Given the description of an element on the screen output the (x, y) to click on. 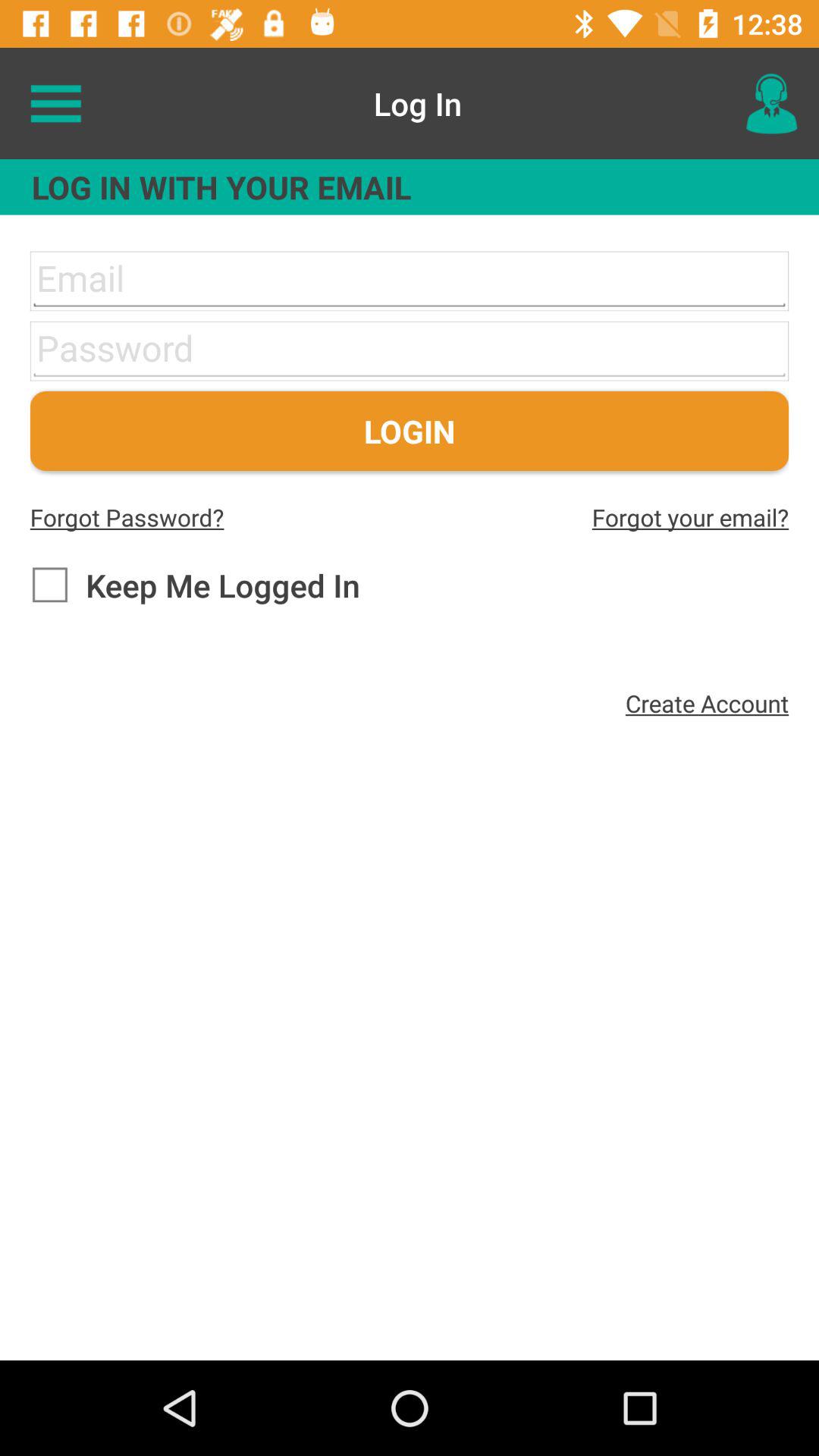
select the icon below forgot your email? item (706, 703)
